Given the description of an element on the screen output the (x, y) to click on. 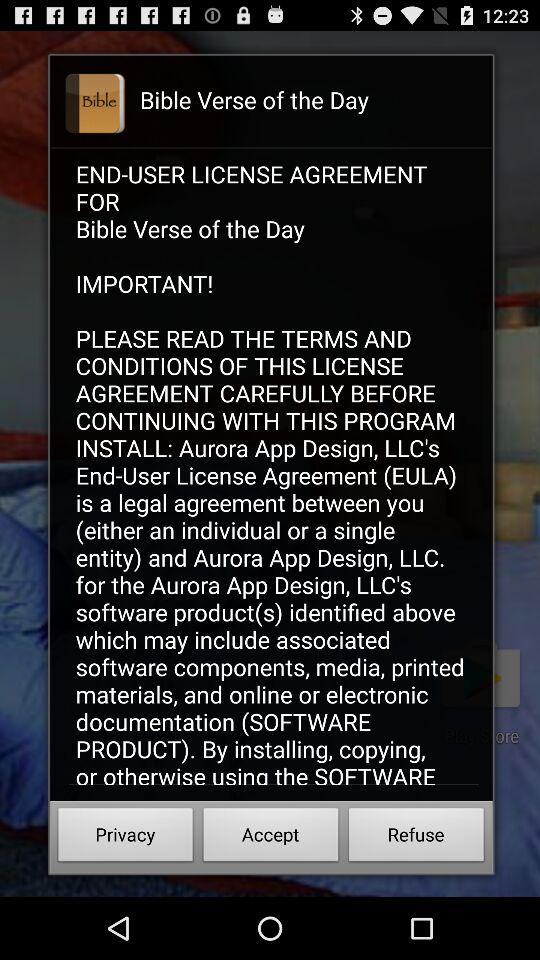
turn on the item to the right of privacy item (270, 837)
